Given the description of an element on the screen output the (x, y) to click on. 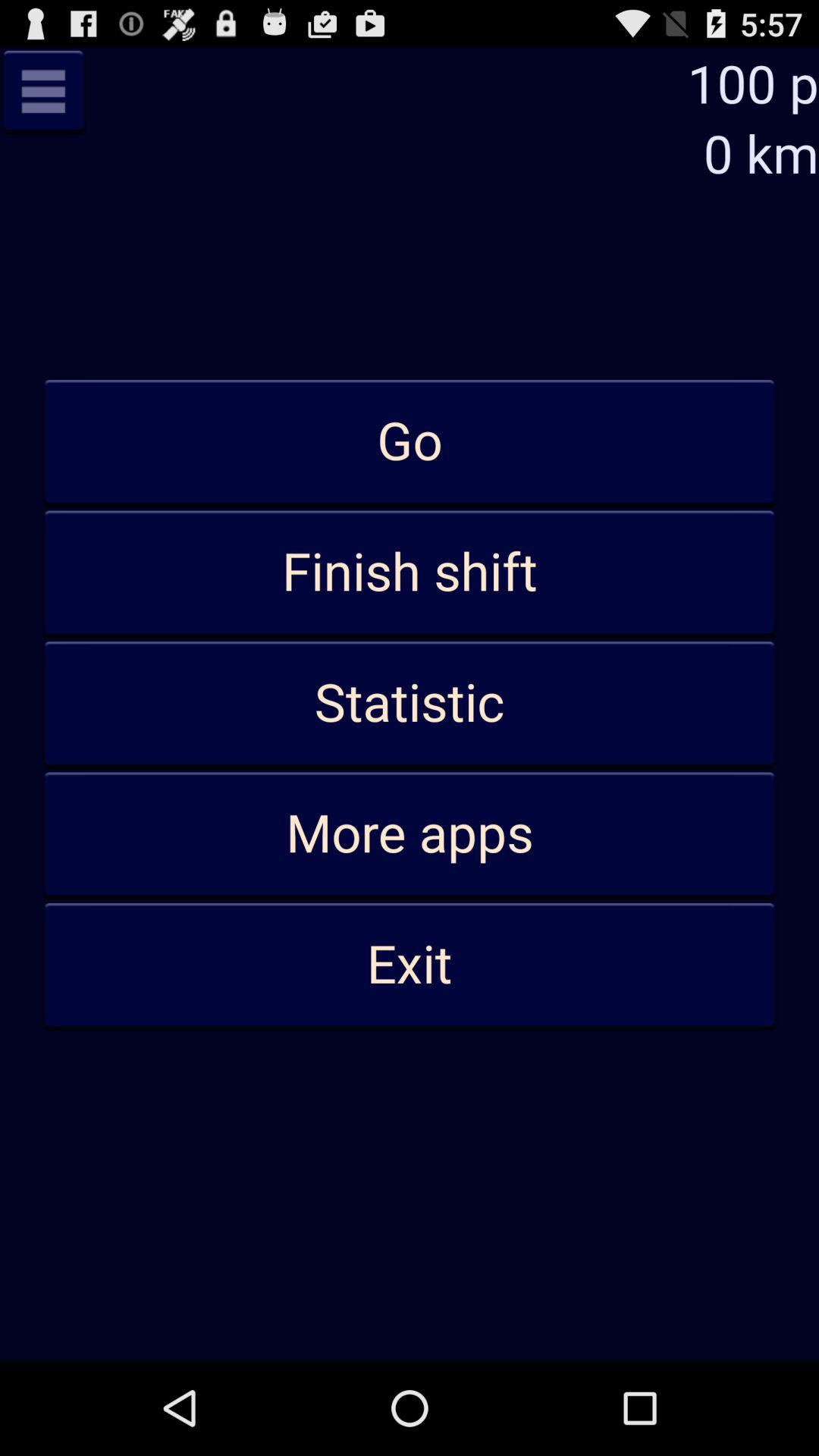
scroll until more apps (409, 834)
